Given the description of an element on the screen output the (x, y) to click on. 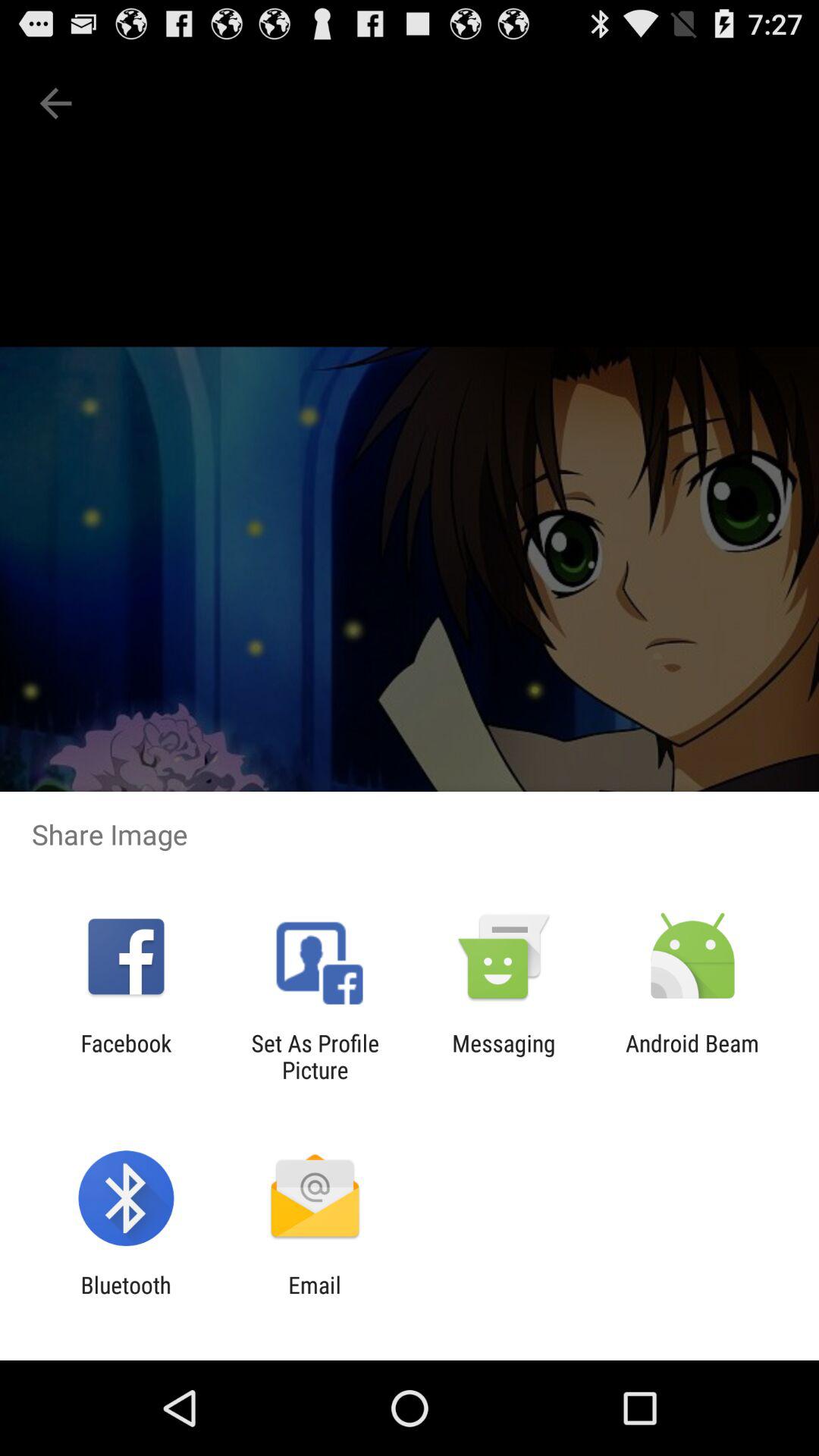
open item to the right of the facebook (314, 1056)
